Given the description of an element on the screen output the (x, y) to click on. 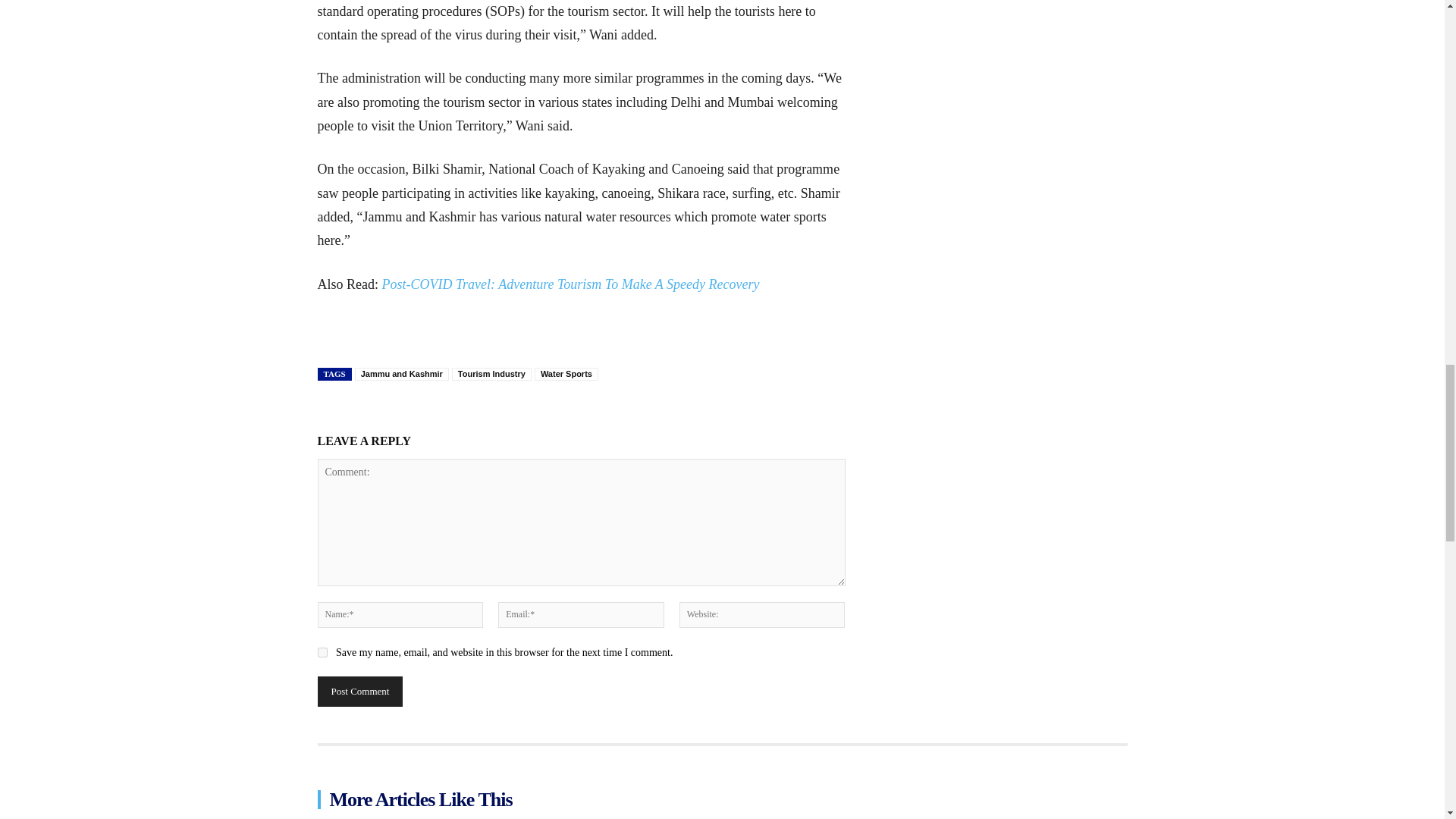
yes (321, 652)
Jammu and Kashmir (401, 373)
Tourism Industry (491, 373)
Post Comment (360, 691)
Post Comment (360, 691)
Water Sports (566, 373)
